Given the description of an element on the screen output the (x, y) to click on. 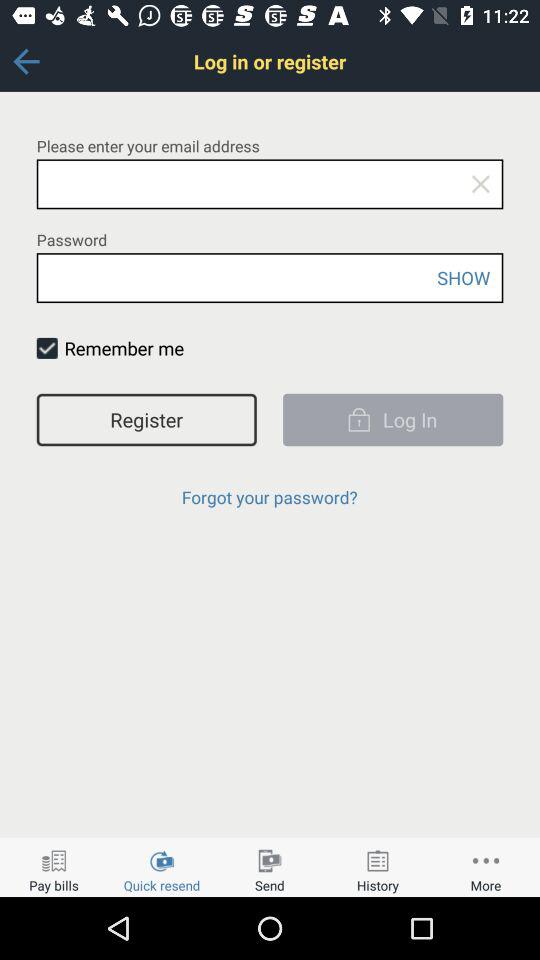
launch the forgot your password? item (269, 496)
